Given the description of an element on the screen output the (x, y) to click on. 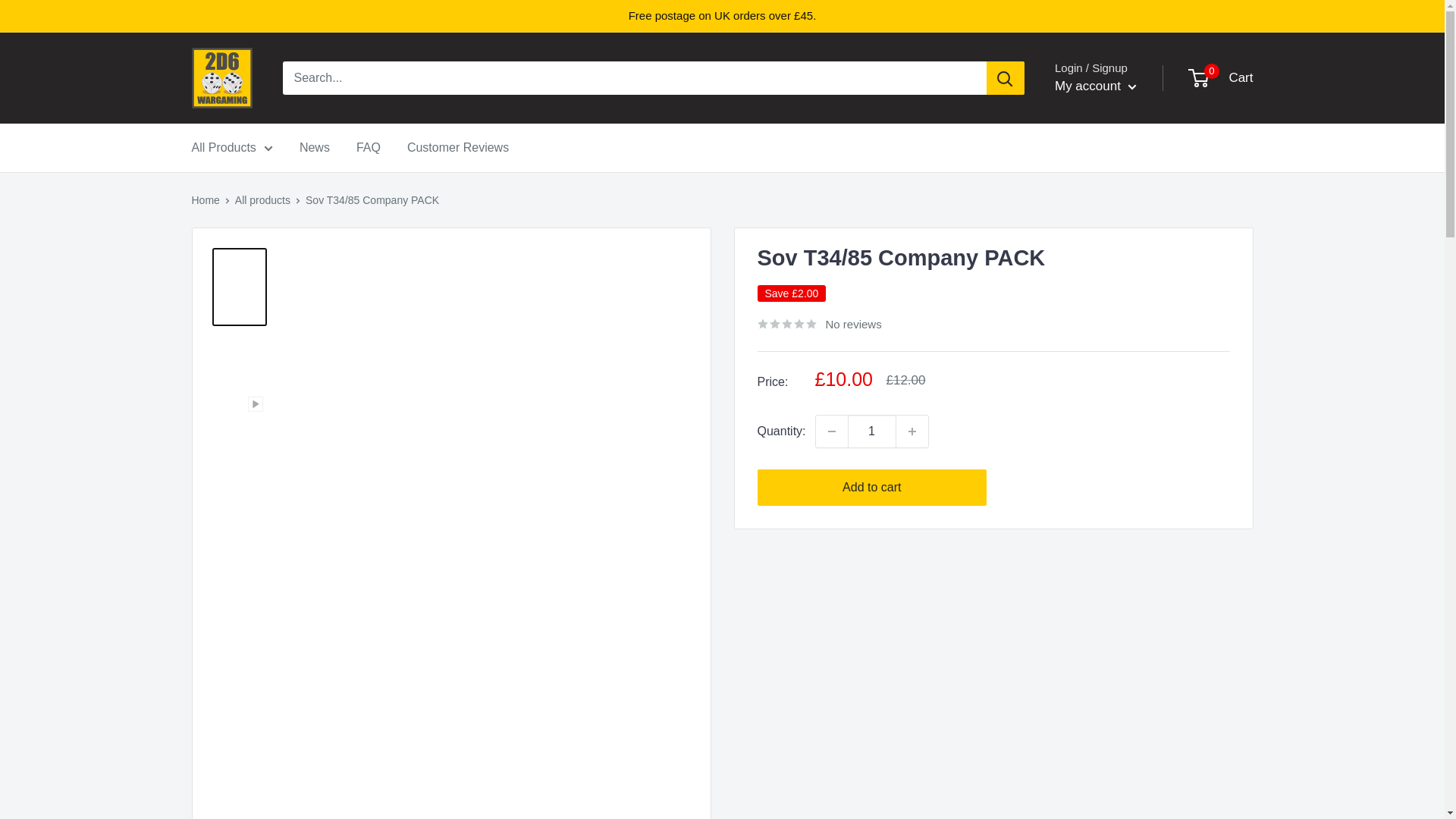
1 (871, 431)
Increase quantity by 1 (912, 431)
Decrease quantity by 1 (831, 431)
